Given the description of an element on the screen output the (x, y) to click on. 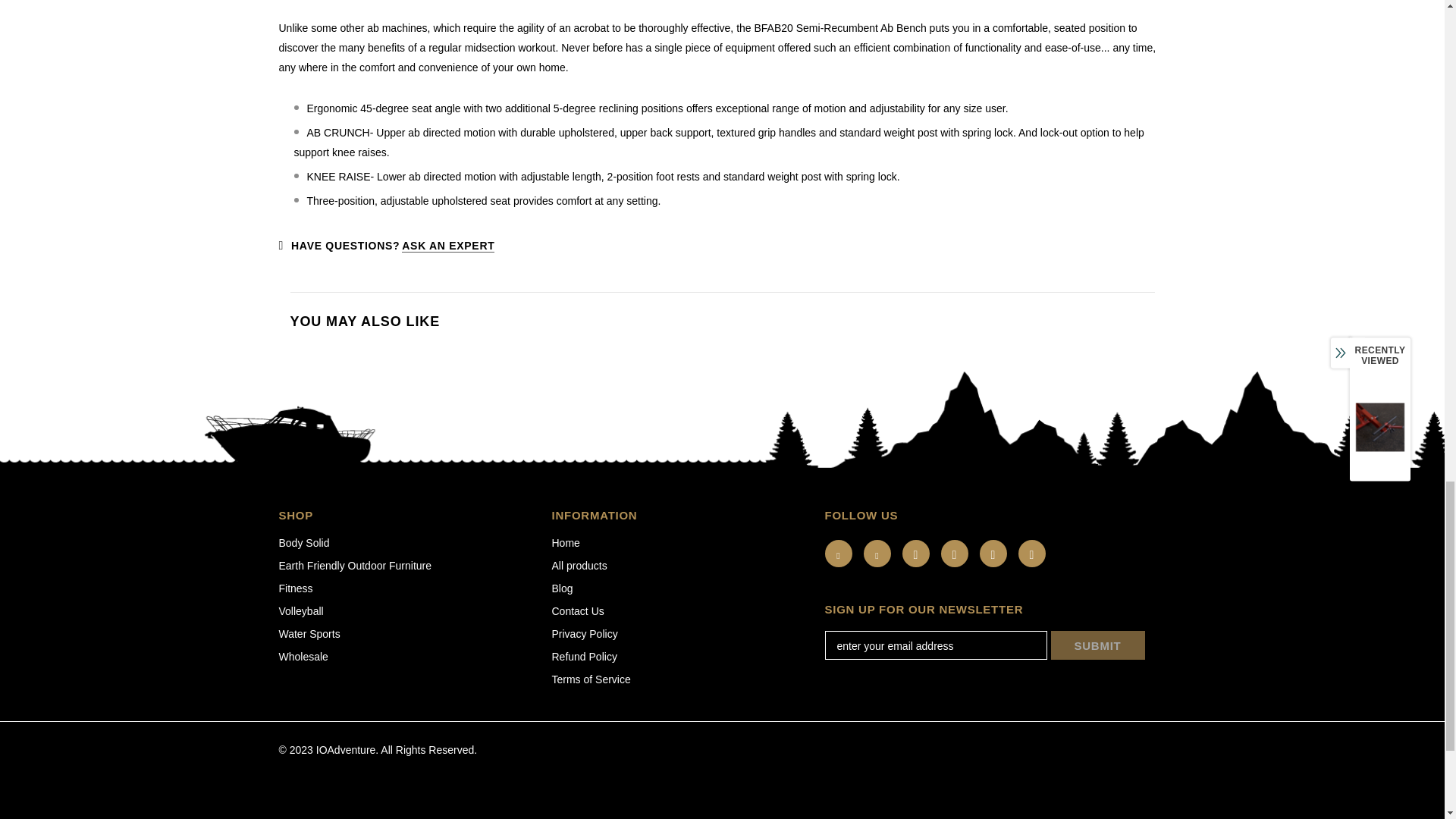
Body Solid (304, 542)
Ask An Expert (448, 245)
Earth Friendly Outdoor Furniture (355, 565)
Submit (1097, 645)
